Given the description of an element on the screen output the (x, y) to click on. 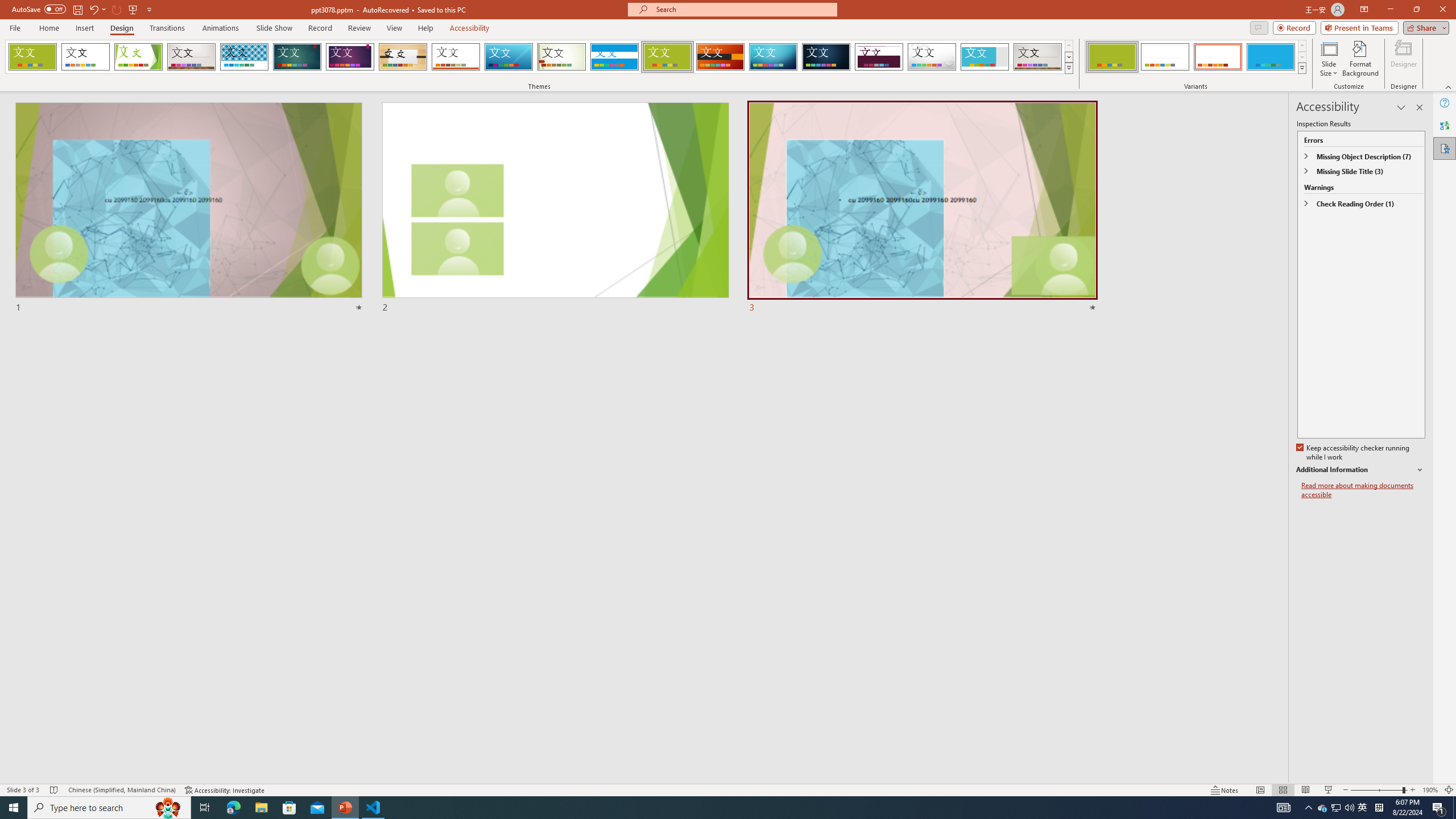
Ion (296, 56)
Circuit (772, 56)
Frame (984, 56)
Basis Variant 4 (1270, 56)
Basis Variant 1 (1112, 56)
Basis Variant 3 (1217, 56)
